Given the description of an element on the screen output the (x, y) to click on. 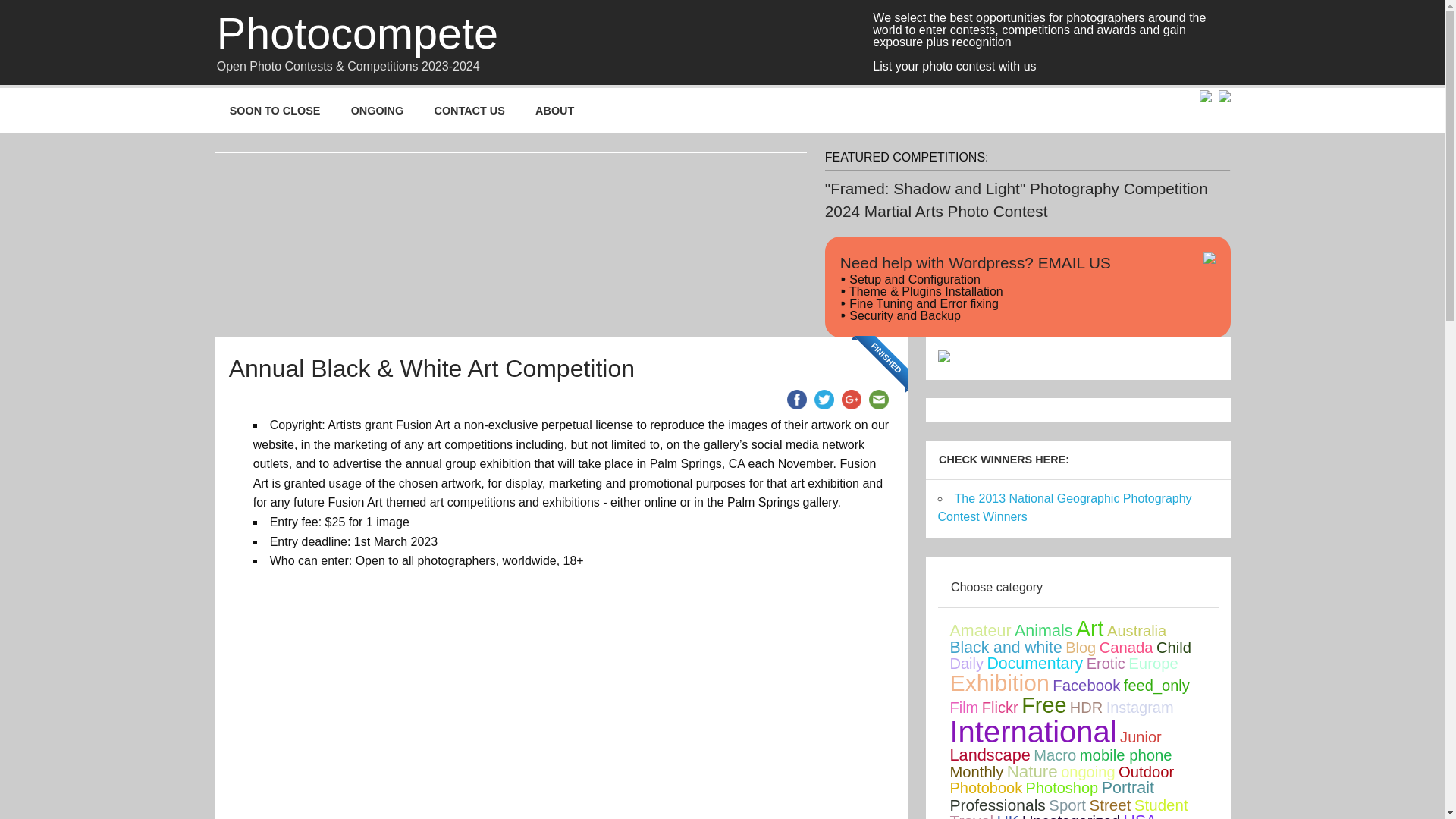
Art (1089, 628)
31 topics (1136, 630)
Twitter (824, 399)
ABOUT (554, 110)
Anti-SPAM Protection (1120, 262)
Email (878, 399)
4 topics (1080, 647)
310 topics (979, 630)
CONTACT US (469, 110)
288 topics (1035, 663)
322 topics (1042, 630)
60 topics (1126, 647)
Photocompete (356, 34)
35 topics (1173, 647)
Photocompete (356, 34)
